Given the description of an element on the screen output the (x, y) to click on. 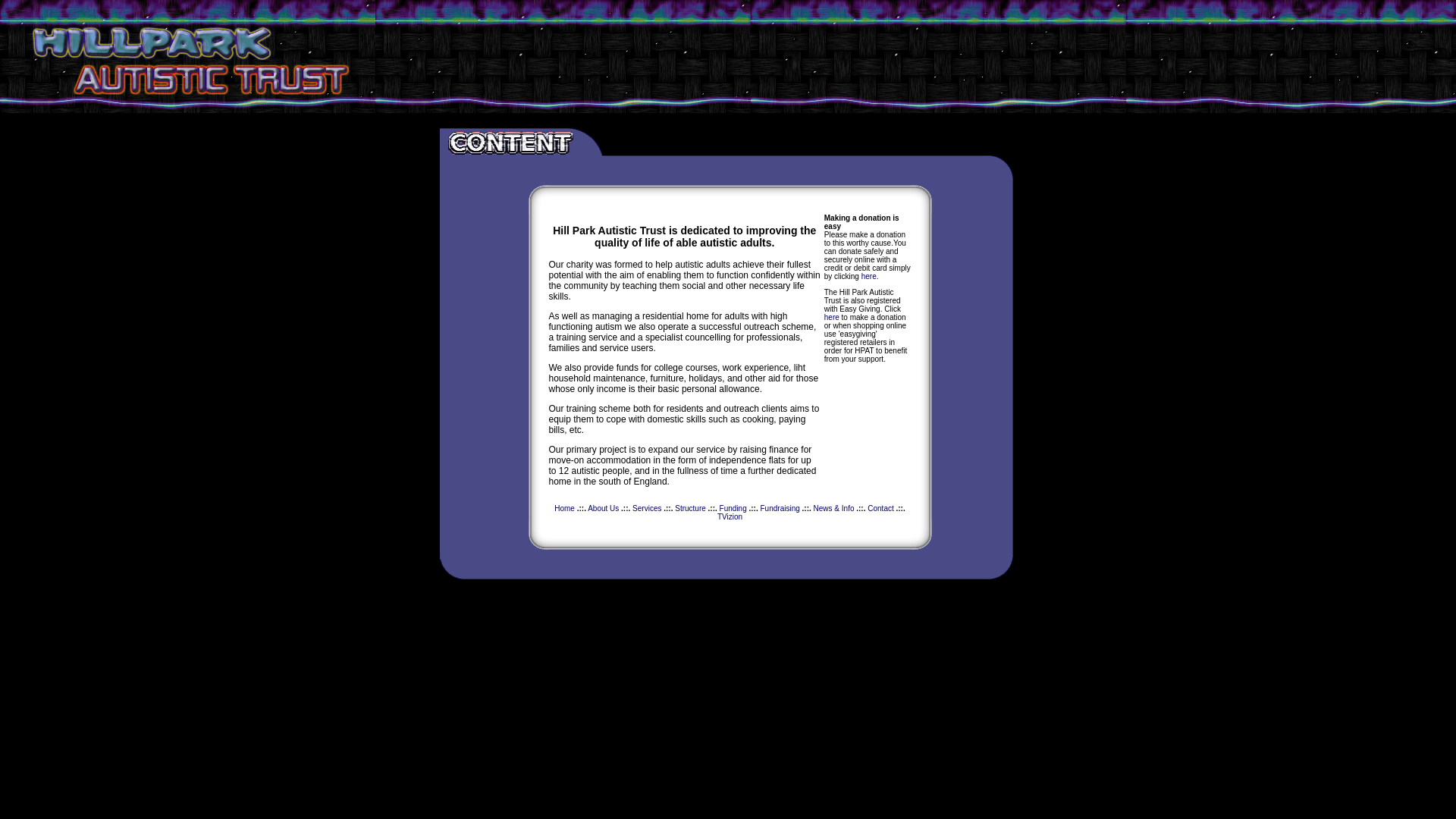
Structure (690, 508)
Funding (732, 508)
Fundraising (779, 508)
Services (646, 508)
Home (564, 508)
here (868, 275)
TVizion (729, 516)
Contact (880, 508)
About Us (603, 508)
here (832, 316)
